Given the description of an element on the screen output the (x, y) to click on. 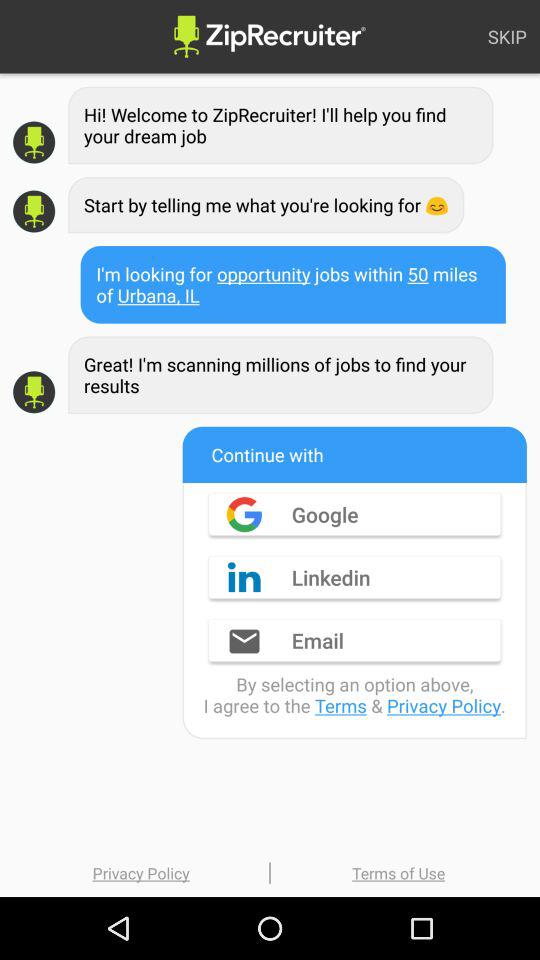
click the icon above hi welcome to icon (507, 36)
